Given the description of an element on the screen output the (x, y) to click on. 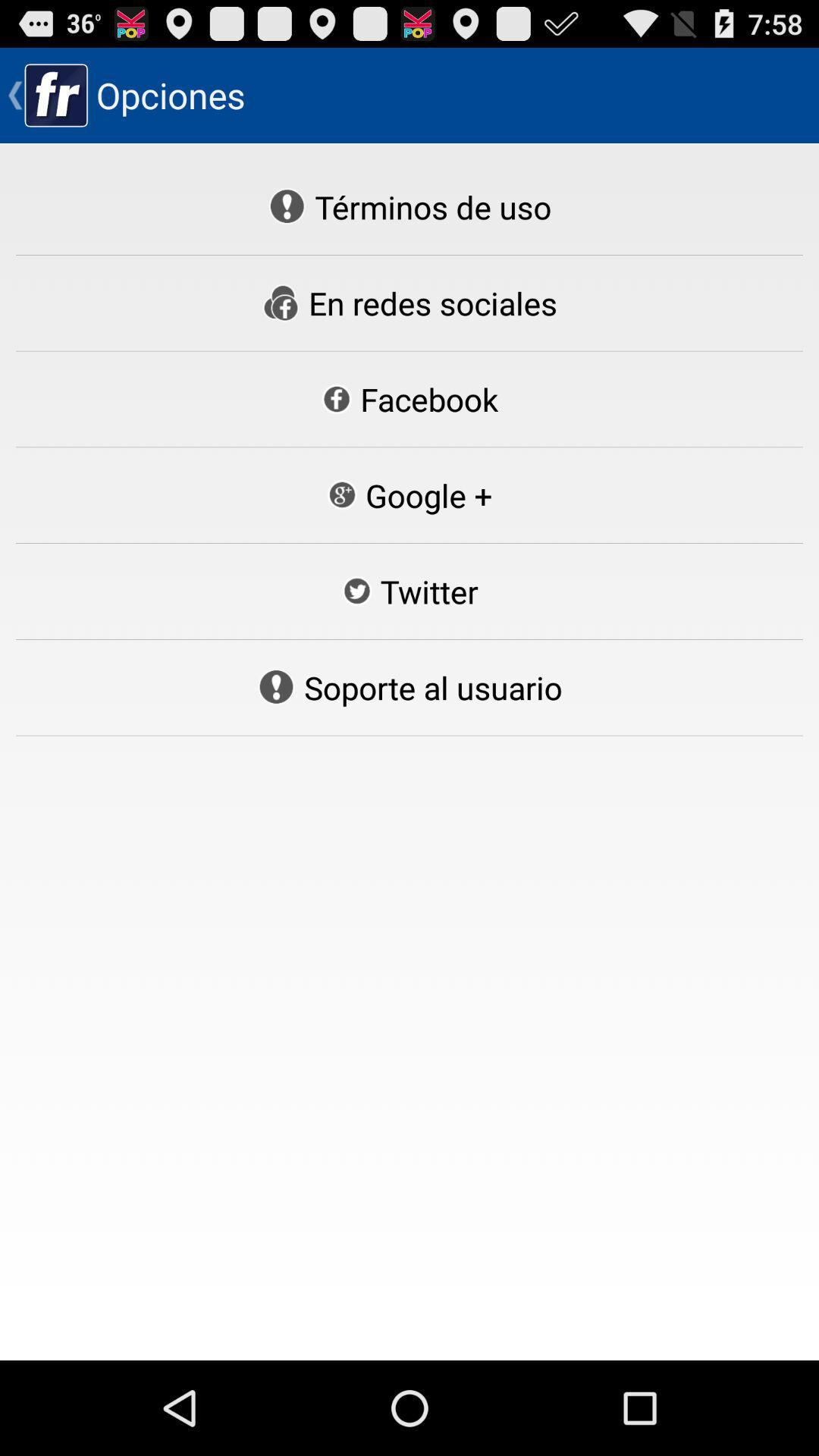
launch the icon below google + item (409, 591)
